Given the description of an element on the screen output the (x, y) to click on. 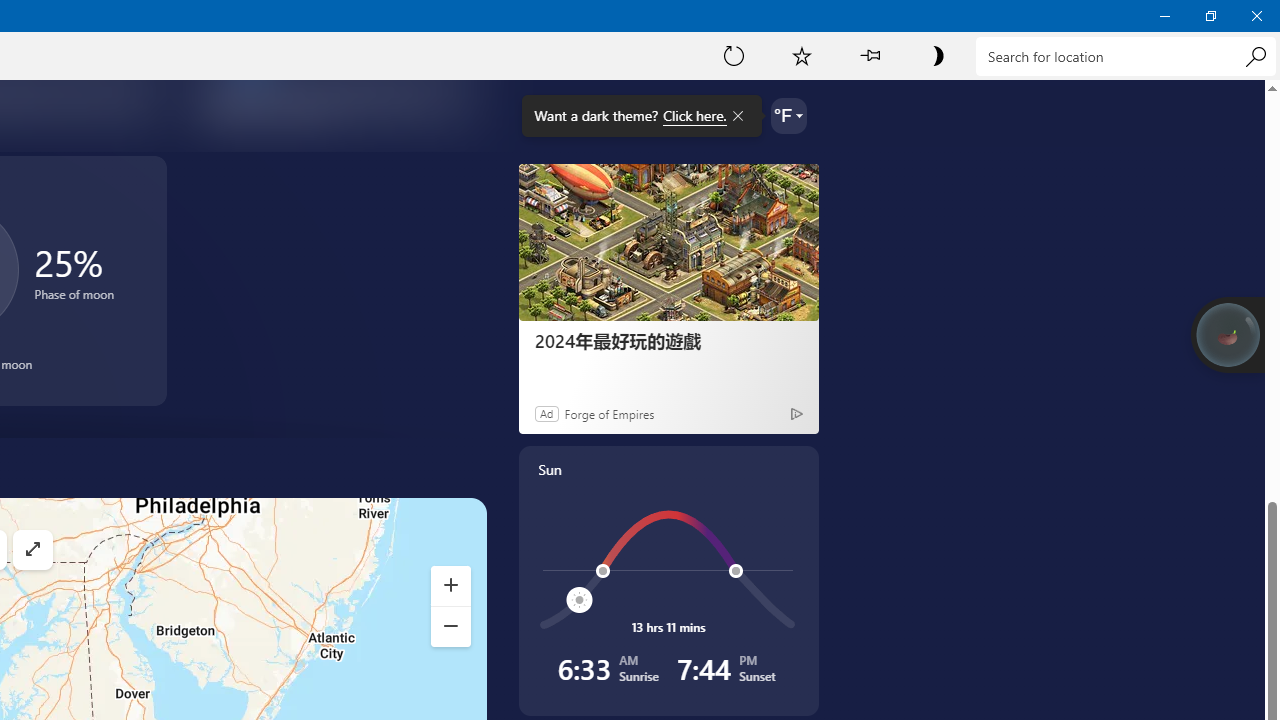
Minimize Weather (1164, 15)
Restore Weather (1210, 15)
Close Weather (1256, 15)
Pin (869, 55)
Refresh (734, 55)
Turn on dark theme (937, 55)
Search (1255, 56)
Search for location (1125, 56)
Add to Favorites (801, 55)
